Given the description of an element on the screen output the (x, y) to click on. 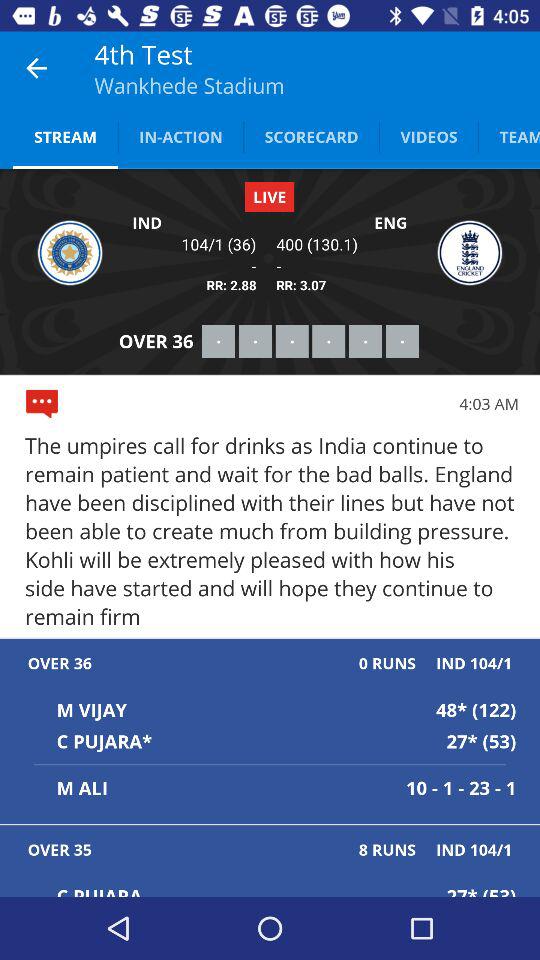
open scorecard icon (311, 136)
